Given the description of an element on the screen output the (x, y) to click on. 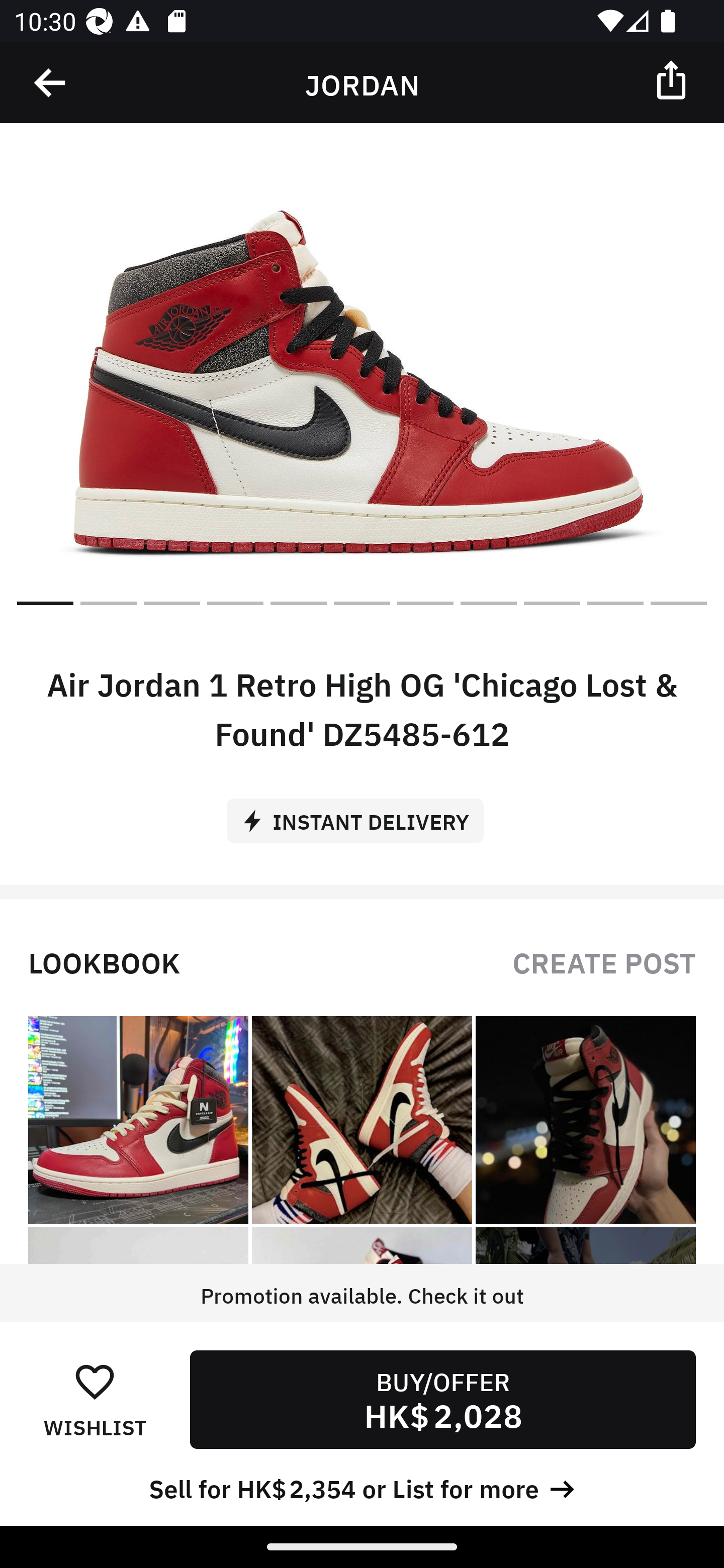
 (50, 83)
 (672, 79)
 INSTANT DELIVERY (362, 813)
CREATE POST (603, 960)
BUY/OFFER HK$ 2,028 (442, 1399)
󰋕 (94, 1380)
Sell for HK$ 2,354 or List for more (361, 1486)
